Given the description of an element on the screen output the (x, y) to click on. 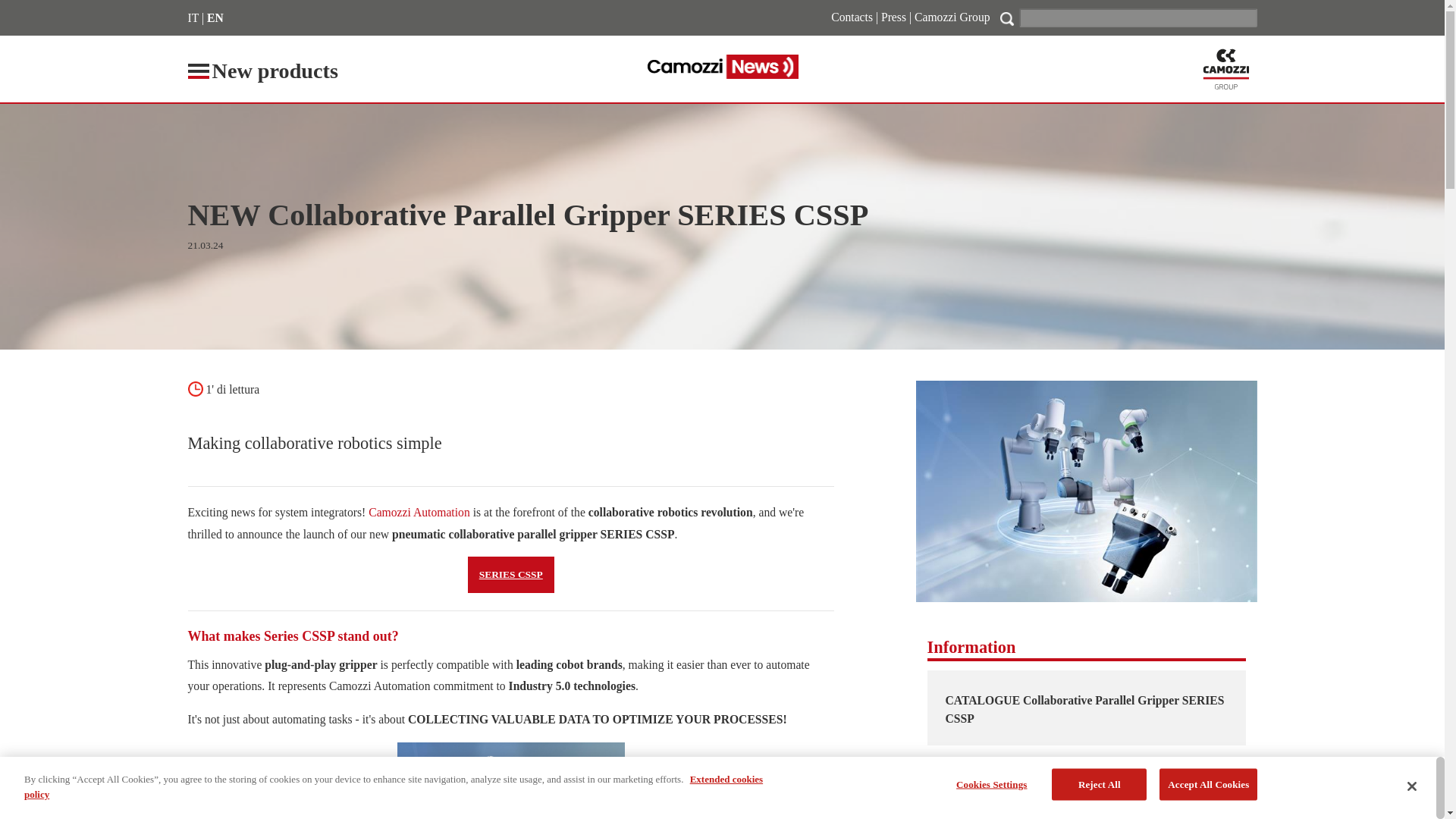
Press (892, 16)
SERIES CSSP (510, 574)
Camozzi Automation (419, 512)
Camozzi Group (952, 16)
Search (1138, 17)
Esegui ricerca (1006, 18)
Home page (1226, 69)
Contacts (851, 16)
EN (215, 17)
